Given the description of an element on the screen output the (x, y) to click on. 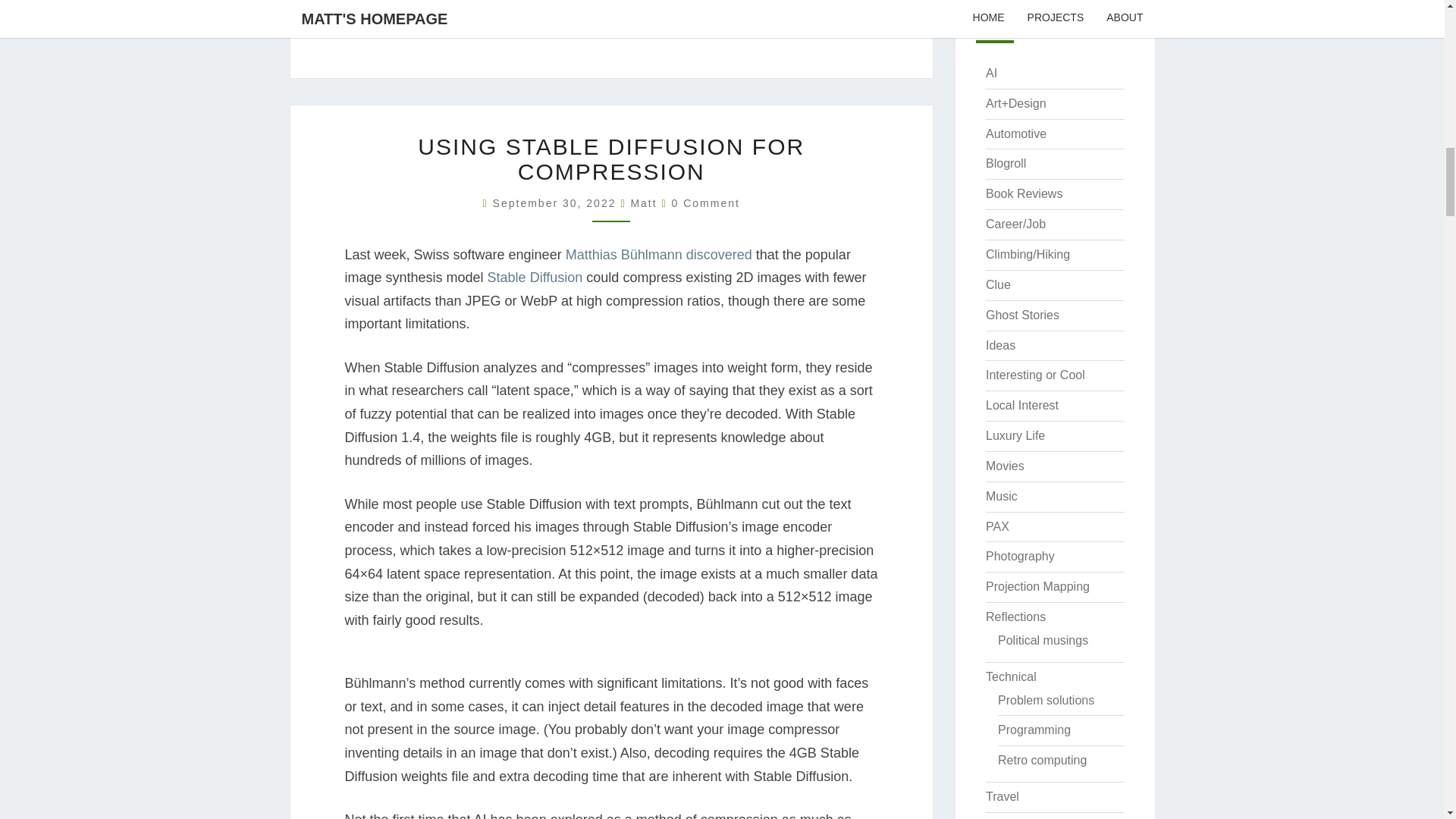
1:20 pm (557, 203)
0 Comment (705, 203)
USING STABLE DIFFUSION FOR COMPRESSION (611, 159)
Matt (643, 203)
September 30, 2022 (557, 203)
Stable Diffusion (535, 277)
View all posts by matt (643, 203)
